Given the description of an element on the screen output the (x, y) to click on. 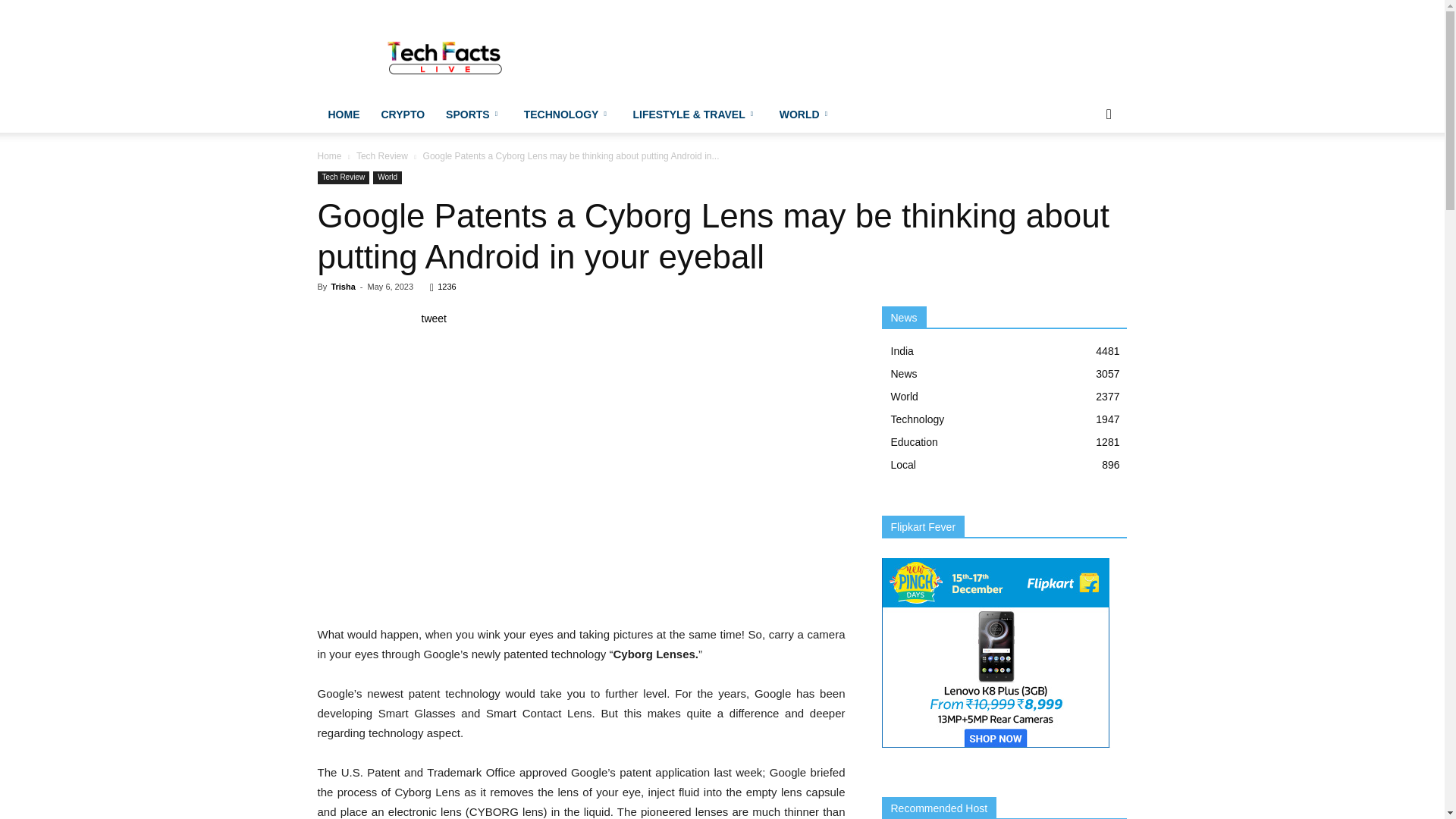
WORLD (805, 114)
TECHNOLOGY (568, 114)
SPORTS (474, 114)
TF Live (446, 55)
CRYPTO (402, 114)
HOME (343, 114)
View all posts in Tech Review (381, 155)
